Given the description of an element on the screen output the (x, y) to click on. 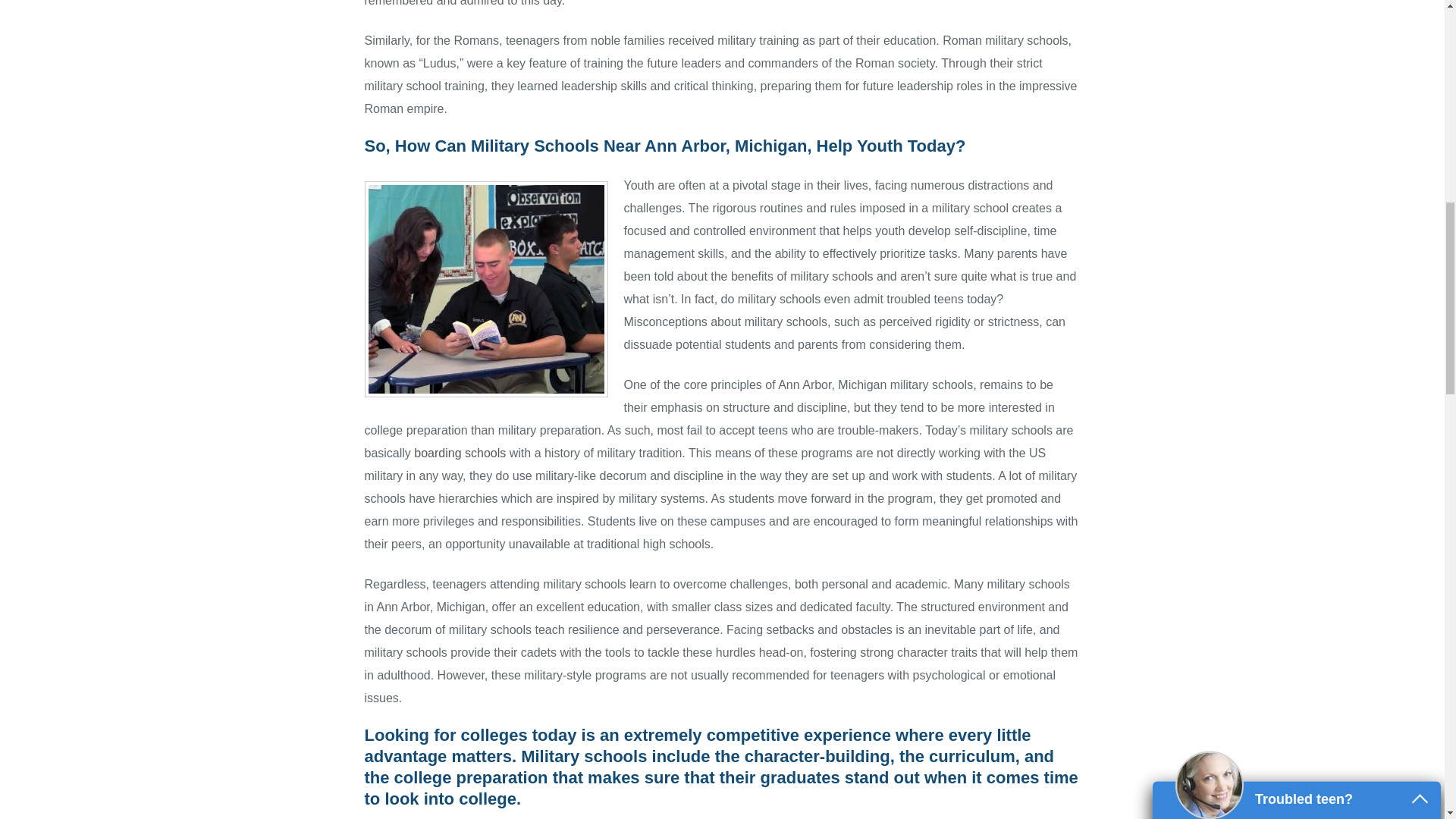
boarding schools (459, 452)
CLICK FOR FREE HELP NOW (1297, 375)
CLICK FOR FREE HELP NOW (1296, 374)
